Given the description of an element on the screen output the (x, y) to click on. 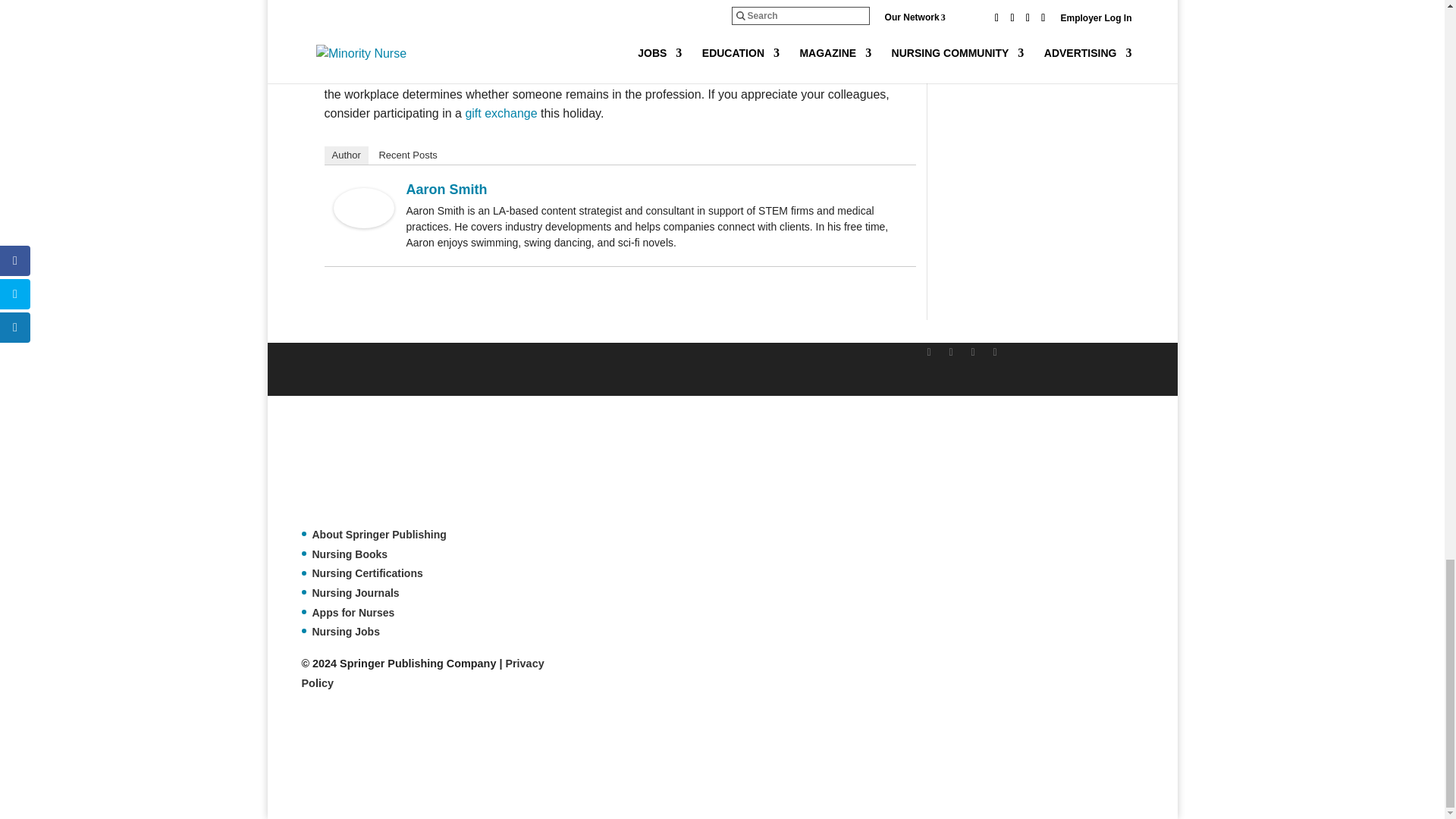
Springer Publishing Company (376, 468)
3rd party ad content (577, 762)
